Given the description of an element on the screen output the (x, y) to click on. 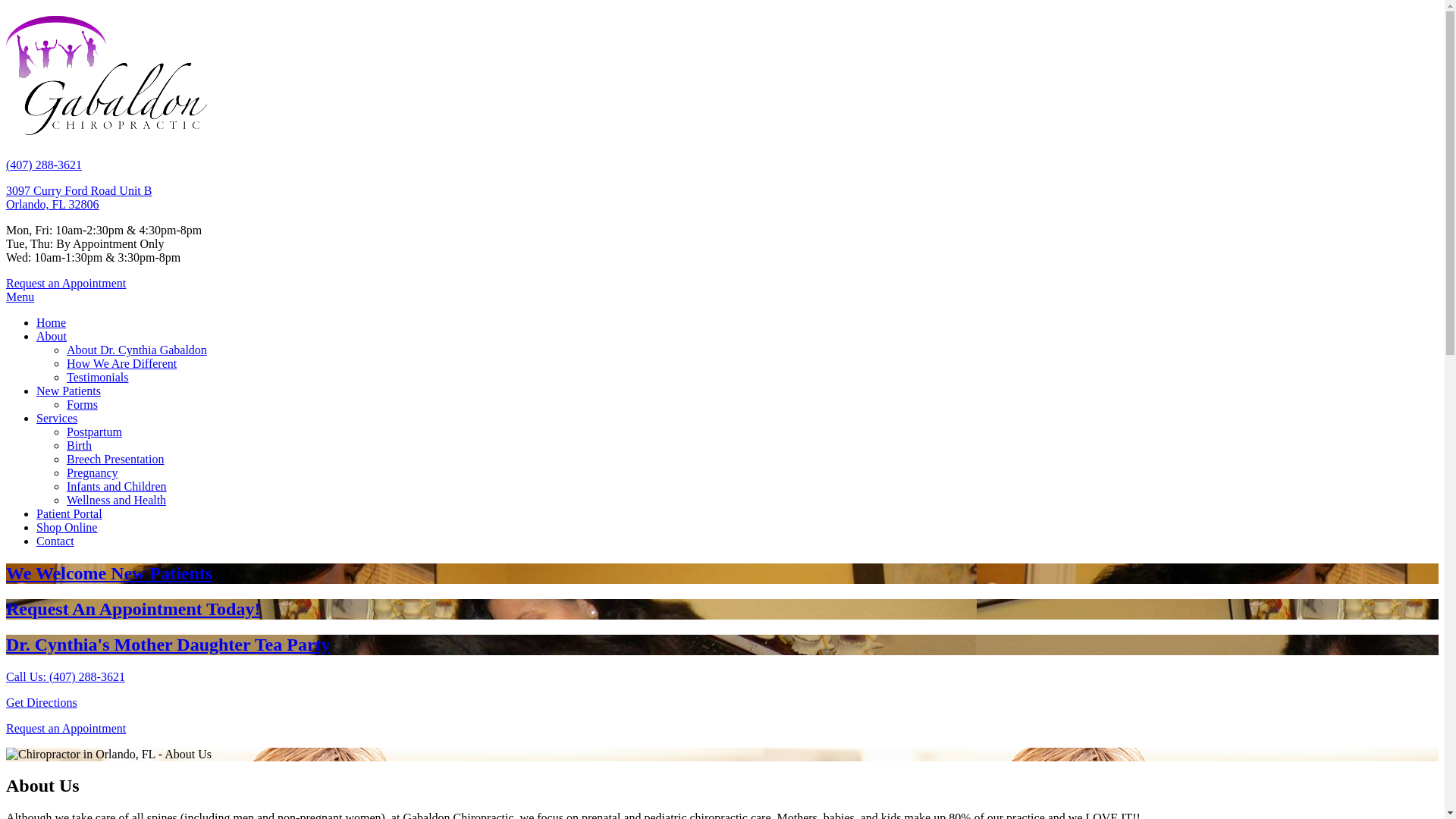
Call Us: (407) 288-3621 Element type: text (65, 676)
3097 Curry Ford Road Unit B
Orlando, FL 32806 Element type: text (78, 197)
Request an Appointment Element type: text (65, 282)
Testimonials Element type: text (97, 376)
About Element type: text (51, 335)
Home Element type: text (50, 322)
Patient Portal Element type: text (69, 513)
How We Are Different Element type: text (121, 363)
Contact Element type: text (55, 540)
Infants and Children Element type: text (116, 486)
Forms Element type: text (81, 404)
Dr. Cynthia's Mother Daughter Tea Party Element type: text (722, 644)
About Dr. Cynthia Gabaldon Element type: text (136, 349)
Birth Element type: text (78, 445)
Services Element type: text (56, 417)
New Patients Element type: text (68, 390)
Wellness and Health Element type: text (116, 499)
Get Directions Element type: text (41, 702)
Pregnancy Element type: text (92, 472)
Shop Online Element type: text (66, 526)
Request An Appointment Today! Element type: text (722, 609)
(407) 288-3621 Element type: text (43, 164)
Breech Presentation Element type: text (114, 458)
Postpartum Element type: text (94, 431)
We Welcome New Patients Element type: text (722, 573)
Request an Appointment Element type: text (65, 727)
Menu Element type: text (20, 296)
